Given the description of an element on the screen output the (x, y) to click on. 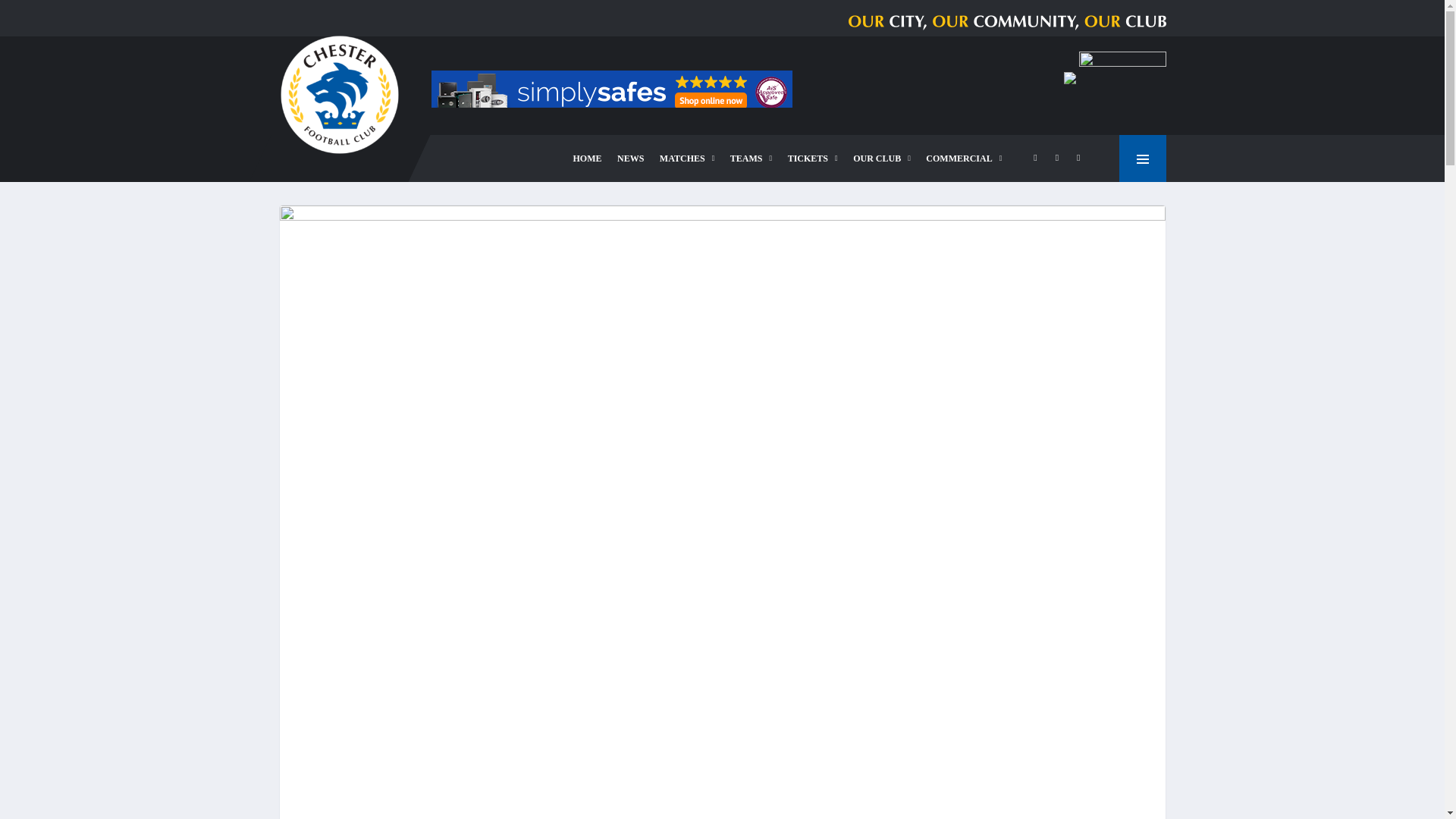
TICKETS (812, 158)
NEWS (630, 158)
MATCHES (686, 158)
OUR CLUB (882, 158)
TEAMS (750, 158)
HOME (587, 158)
COMMERCIAL (963, 158)
